Given the description of an element on the screen output the (x, y) to click on. 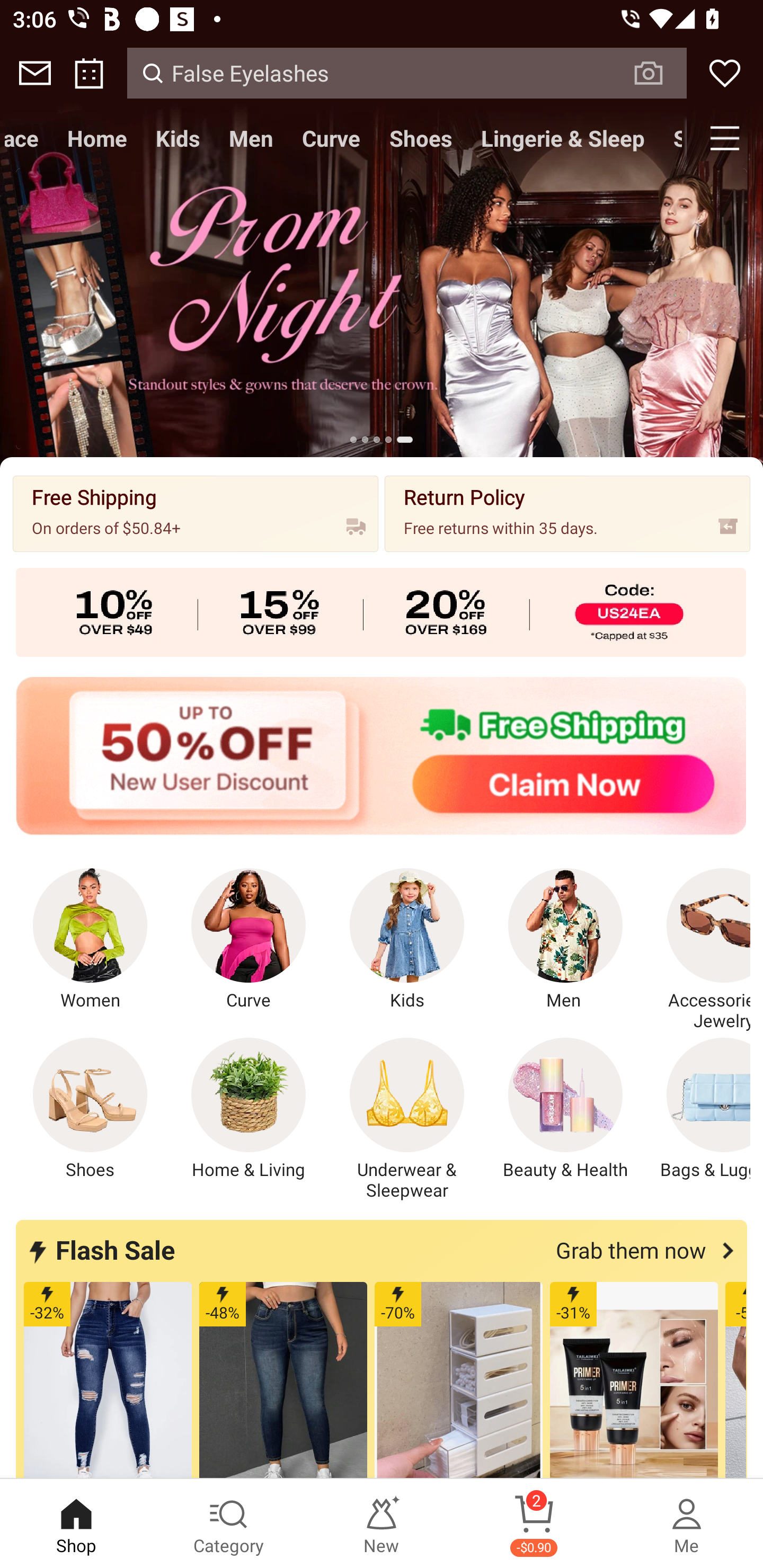
Wishlist (724, 72)
VISUAL SEARCH (657, 72)
Marketplace (26, 137)
Home (96, 137)
Kids (177, 137)
Men (250, 137)
Curve (331, 137)
Shoes (420, 137)
Lingerie & Sleep (562, 137)
Free Shipping On orders of $50.84+ (195, 513)
Return Policy Free returns within 35 days. (567, 513)
Women (89, 939)
Curve (248, 939)
Kids (406, 939)
Men  (565, 939)
Accessories & Jewelry (698, 949)
Shoes (89, 1109)
Home & Living (248, 1109)
Underwear & Sleepwear (406, 1119)
Beauty & Health (565, 1109)
Bags & Luggage (698, 1109)
Category (228, 1523)
New (381, 1523)
Cart 2 -$0.90 (533, 1523)
Me (686, 1523)
